Given the description of an element on the screen output the (x, y) to click on. 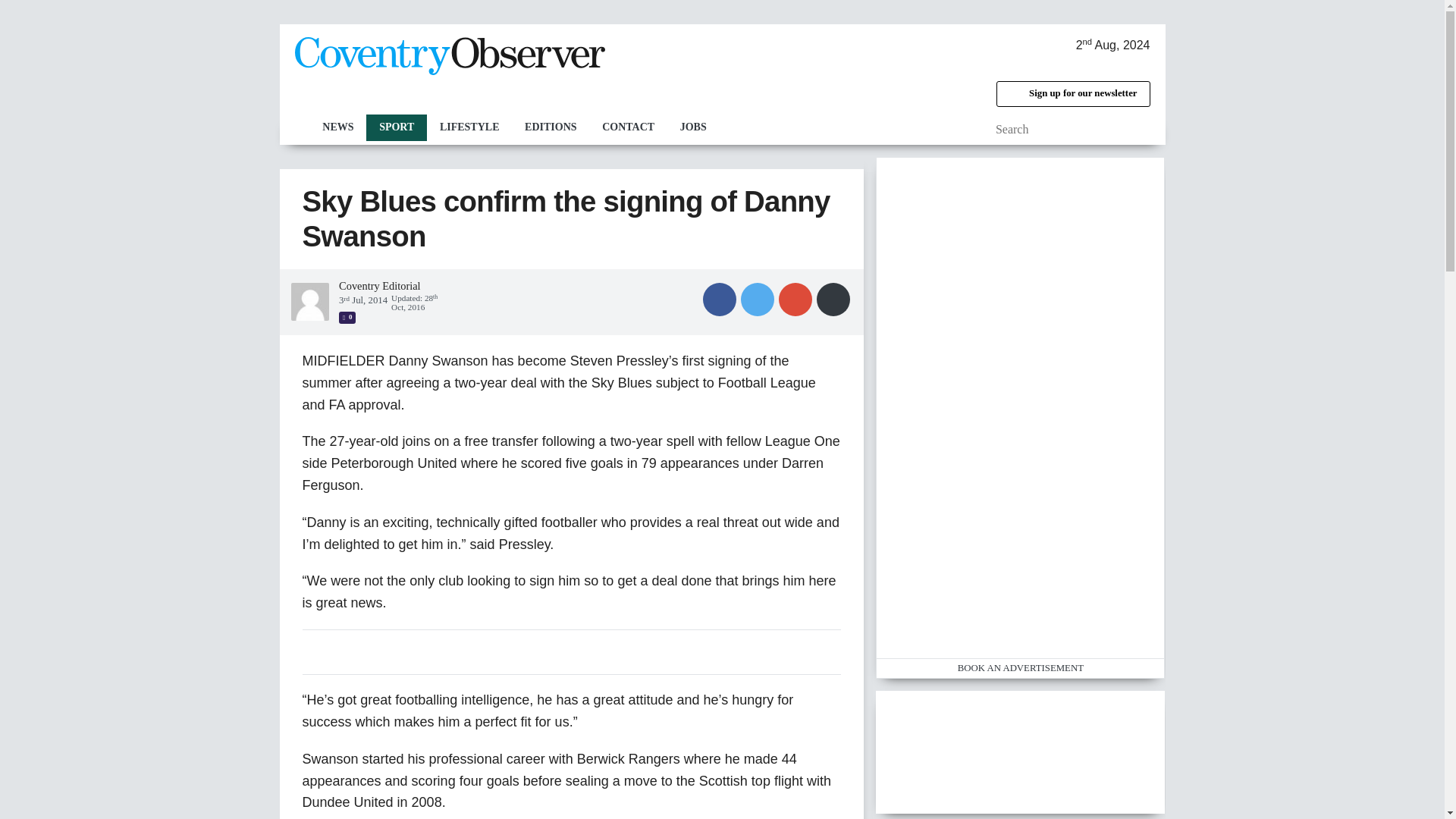
CONTACT (627, 127)
SPORT (396, 127)
The Coventry Observer (449, 55)
NEWS (337, 127)
LIFESTYLE (469, 127)
  Sign up for our newsletter (1072, 94)
JOBS (692, 127)
EDITIONS (550, 127)
